Given the description of an element on the screen output the (x, y) to click on. 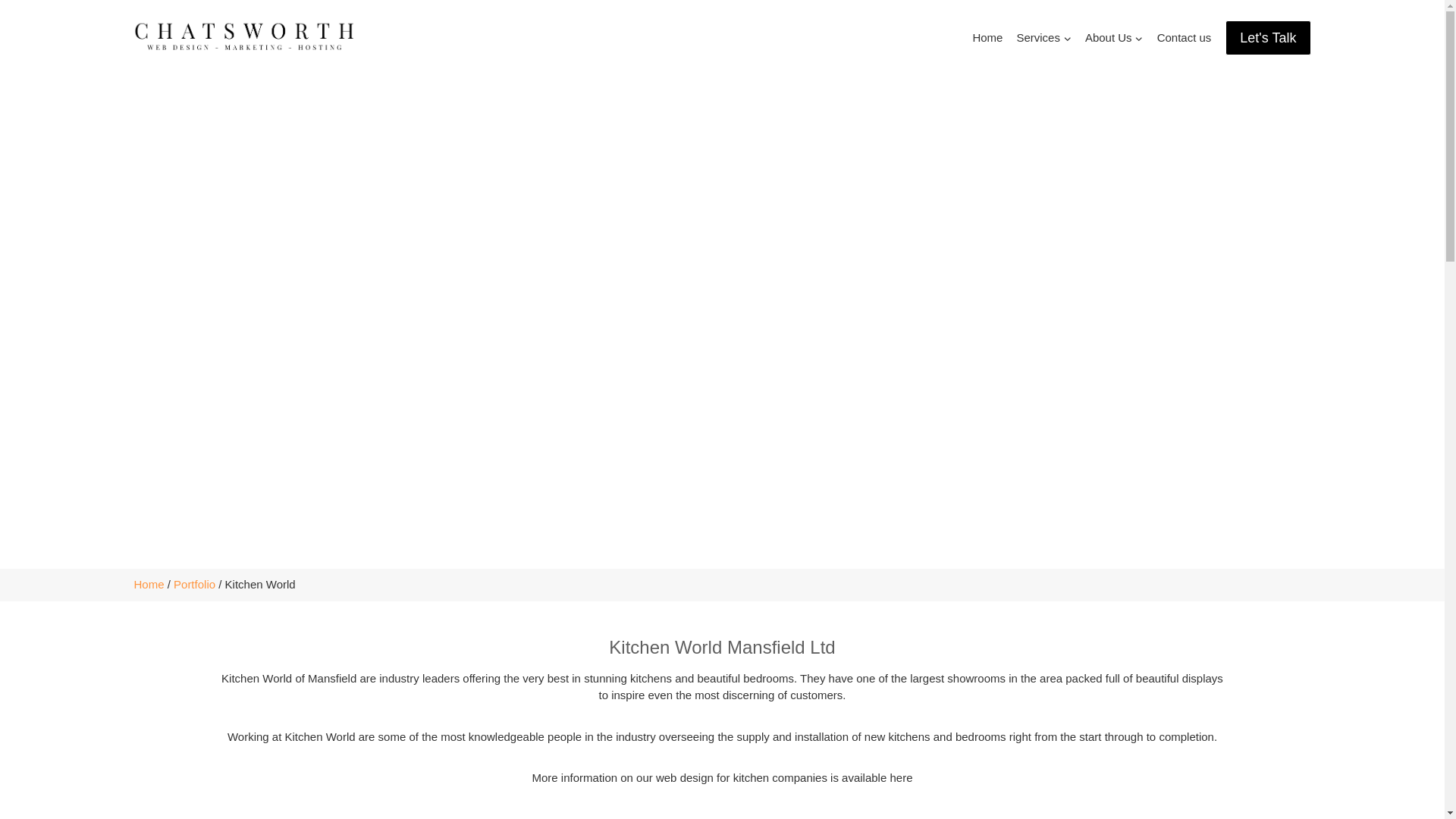
Home (987, 38)
Services (1043, 38)
Contact us (1184, 38)
About Us (1114, 38)
Portfolio (194, 584)
Home (148, 584)
Let's Talk (1267, 37)
